Given the description of an element on the screen output the (x, y) to click on. 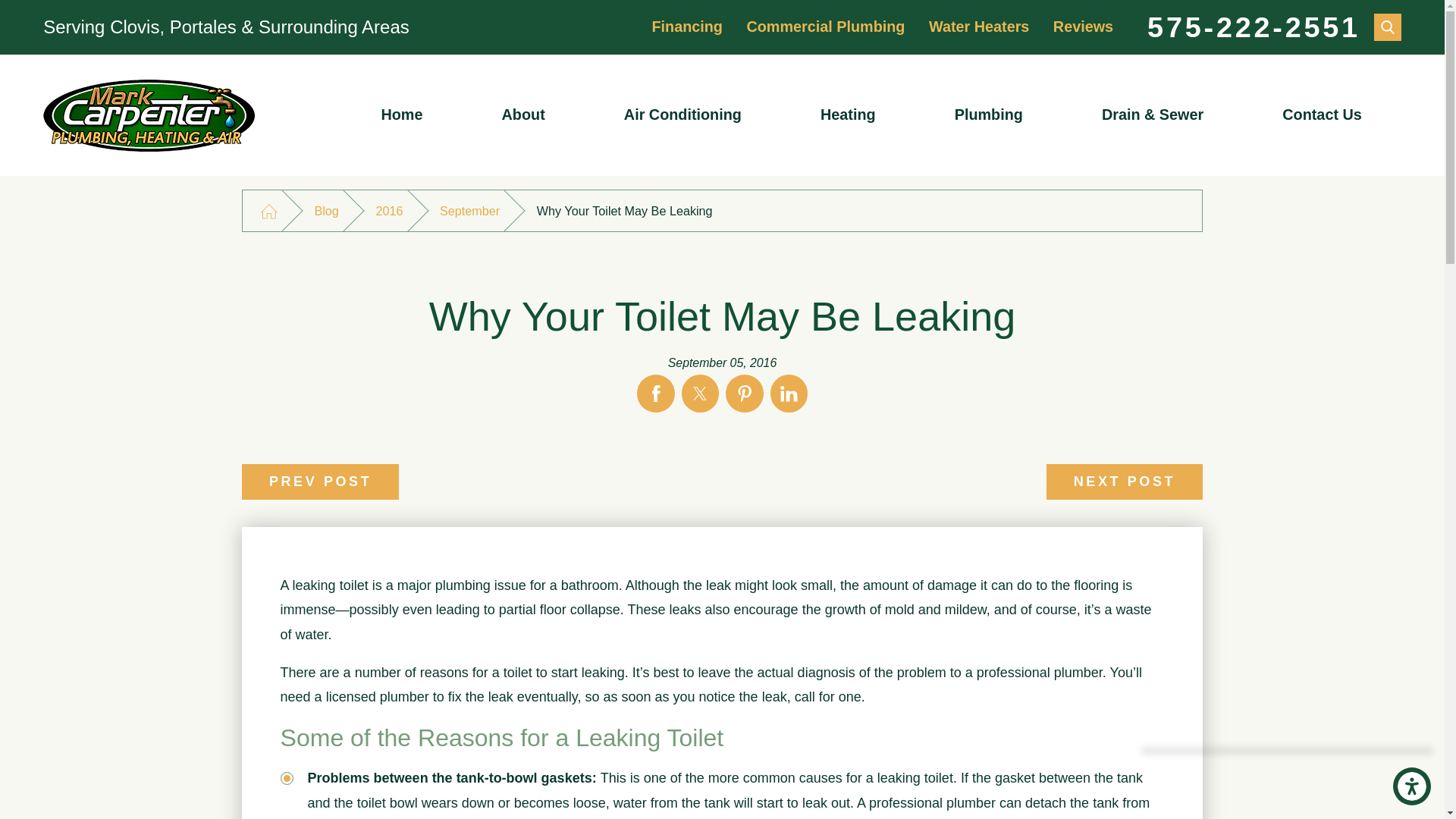
Commercial Plumbing (824, 26)
Go Home (269, 210)
Financing (686, 26)
Search Our Site (1387, 26)
Heating (847, 115)
Water Heaters (978, 26)
About (524, 115)
Open the accessibility options menu (1412, 786)
575-222-2551 (1253, 27)
Home (400, 115)
Reviews (1082, 26)
Air Conditioning (682, 115)
Plumbing (988, 115)
Mark Carpenter Plumbing (148, 115)
Search Icon (1387, 27)
